Given the description of an element on the screen output the (x, y) to click on. 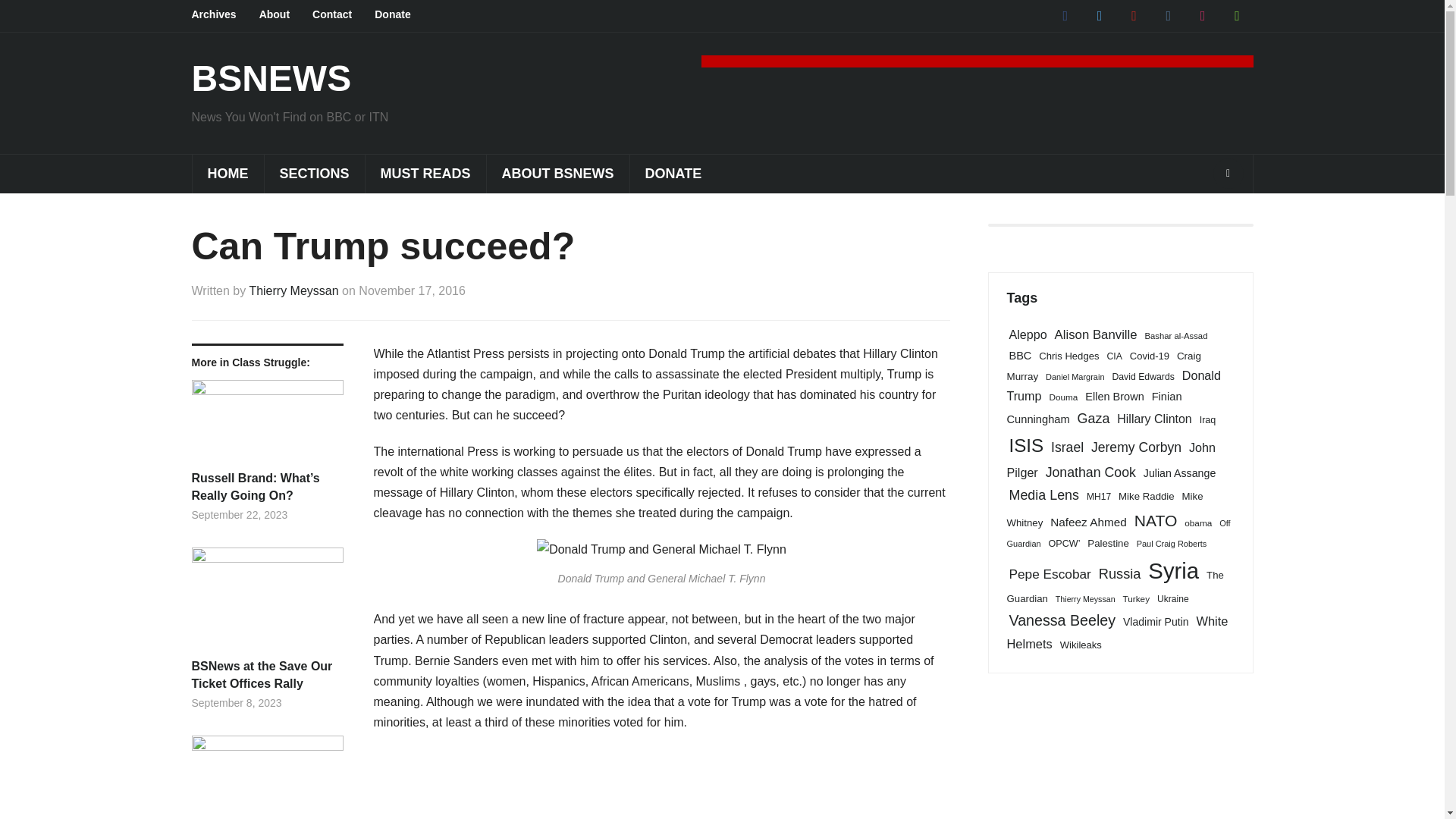
Default Label (1236, 14)
Permalink to BSNews at the Save Our Ticket Offices Rally (266, 675)
instagram (1202, 14)
Default Label (1202, 14)
News You Won't Find on BBC or ITN (270, 78)
youtube (1134, 14)
twitter (1099, 14)
BSNEWS (270, 78)
Permalink to BSNews at the Save Our Ticket Offices Rally (266, 602)
About (286, 15)
